Given the description of an element on the screen output the (x, y) to click on. 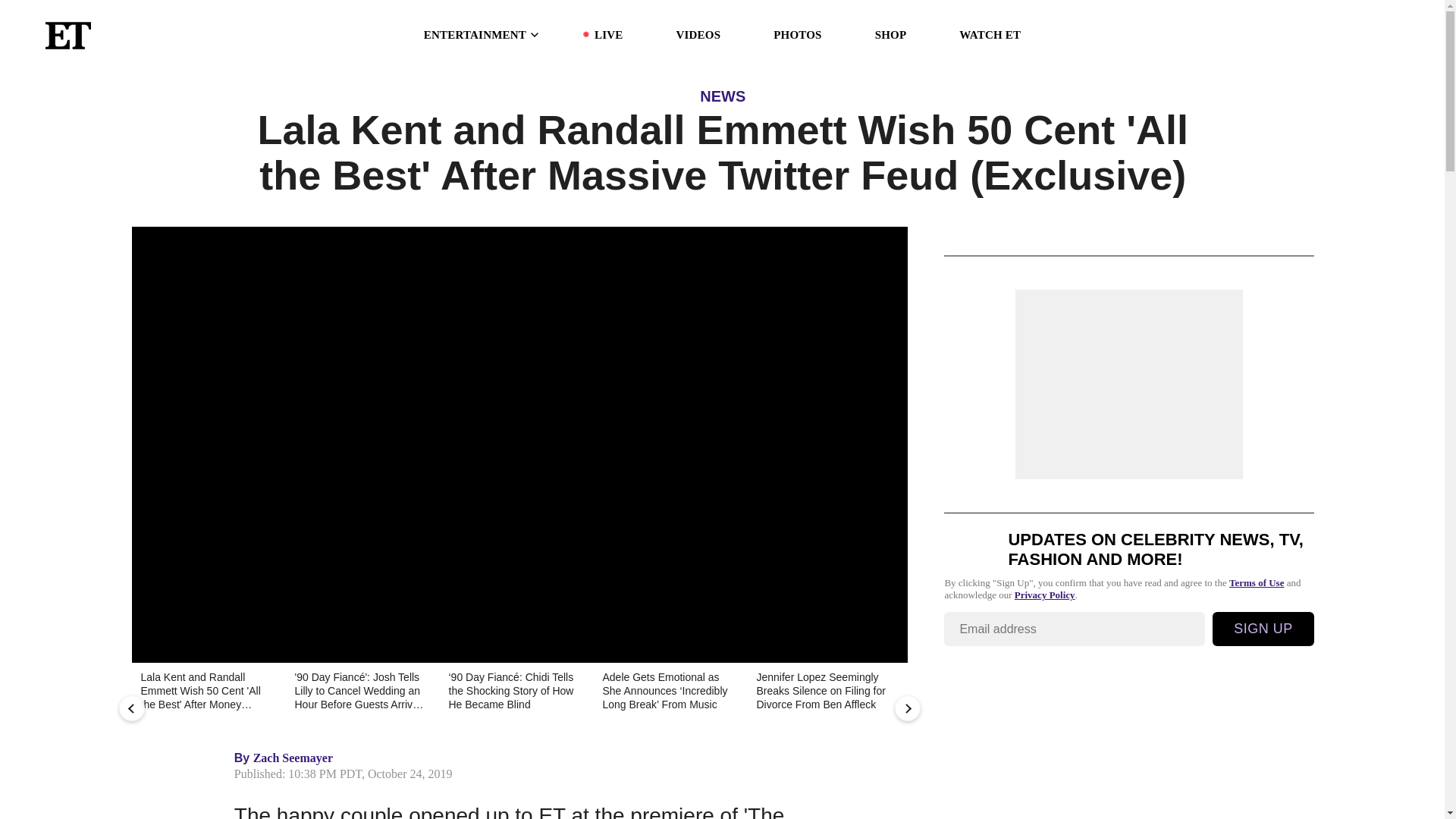
NEWS (722, 95)
ENTERTAINMENT (482, 34)
SHOP (891, 34)
LIVE (608, 34)
WATCH ET (989, 34)
PHOTOS (797, 34)
VIDEOS (697, 34)
